Given the description of an element on the screen output the (x, y) to click on. 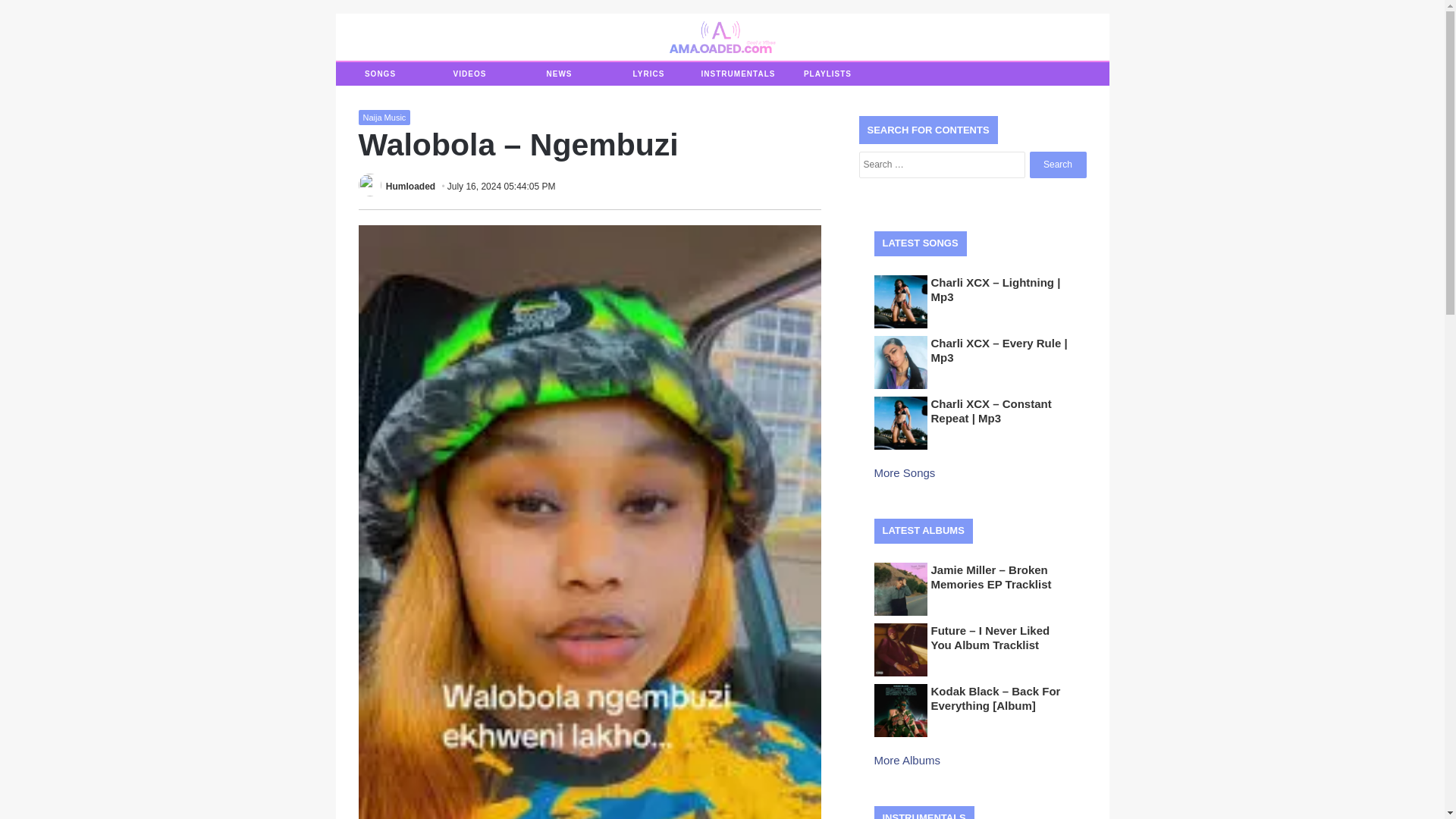
Search (1057, 164)
Search (1057, 164)
LYRICS (648, 73)
Search (1057, 164)
Humloaded (410, 185)
Posts by Humloaded (410, 185)
More Albums (908, 759)
More Songs (905, 472)
SONGS (379, 73)
Naija Music (384, 117)
VIDEOS (469, 73)
PLAYLISTS (827, 73)
NEWS (558, 73)
INSTRUMENTALS (738, 73)
